Given the description of an element on the screen output the (x, y) to click on. 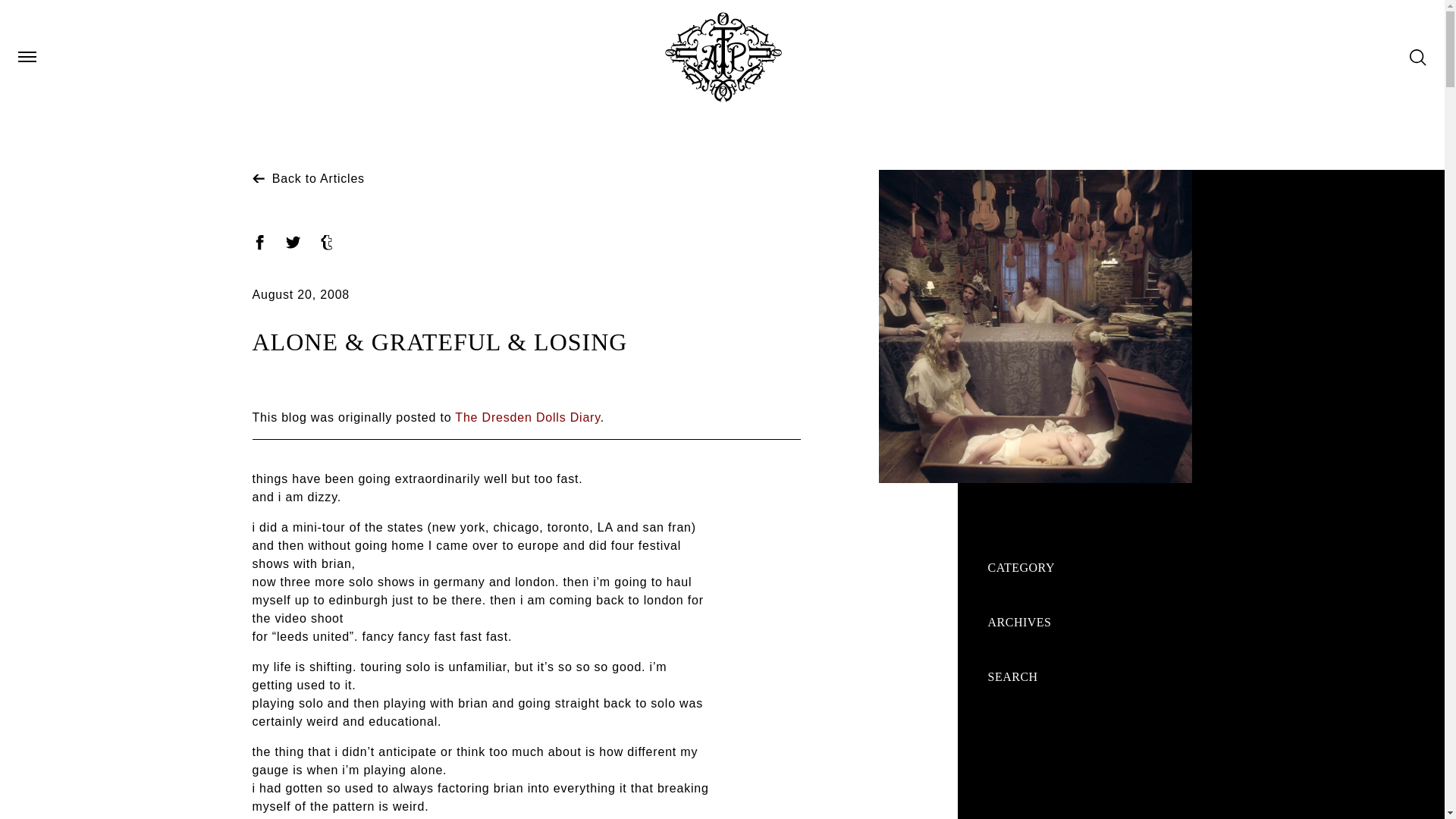
Facebook (258, 242)
Twitter (292, 242)
Back to Articles (307, 178)
